Given the description of an element on the screen output the (x, y) to click on. 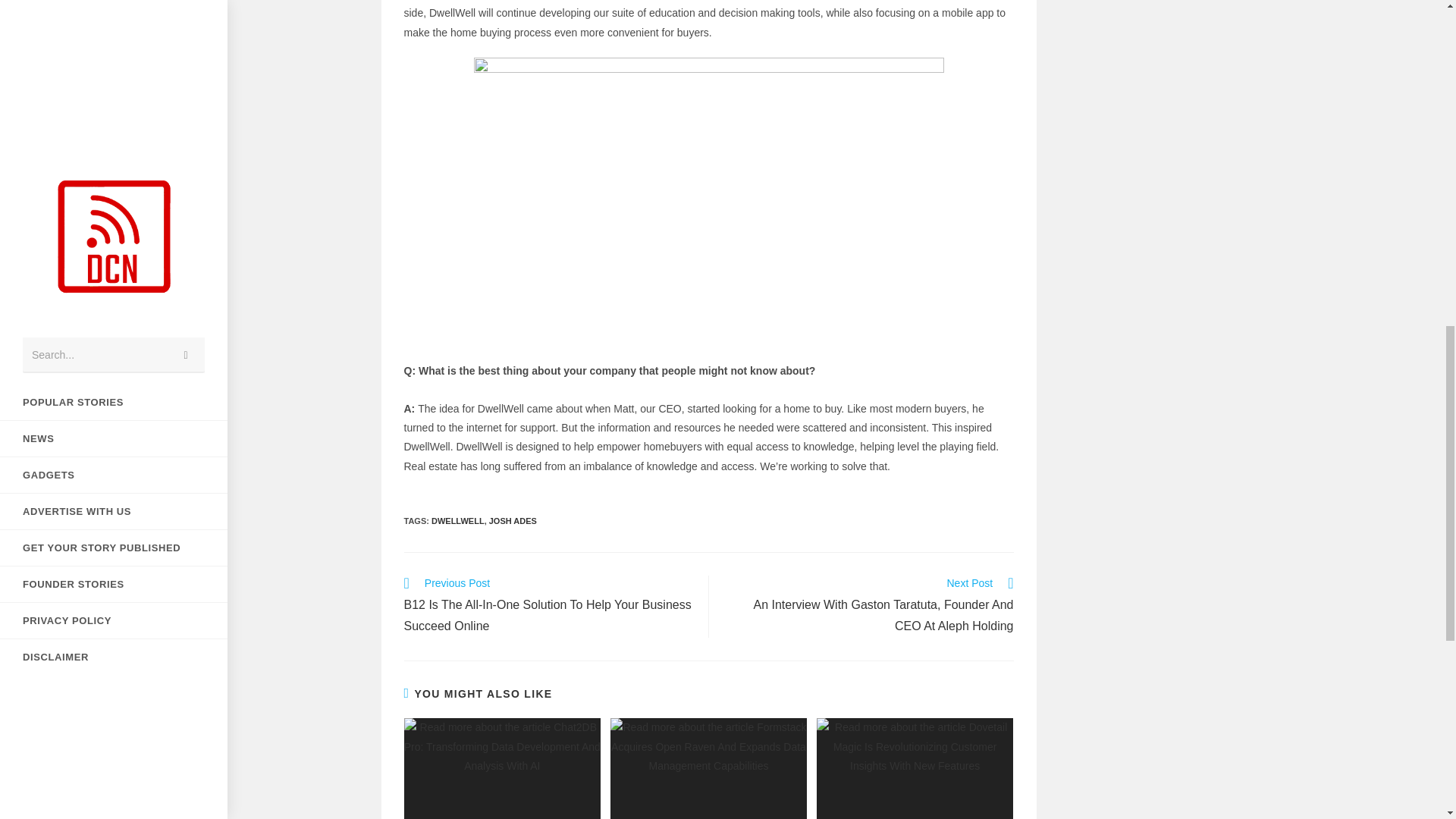
DWELLWELL (457, 520)
JOSH ADES (513, 520)
